Given the description of an element on the screen output the (x, y) to click on. 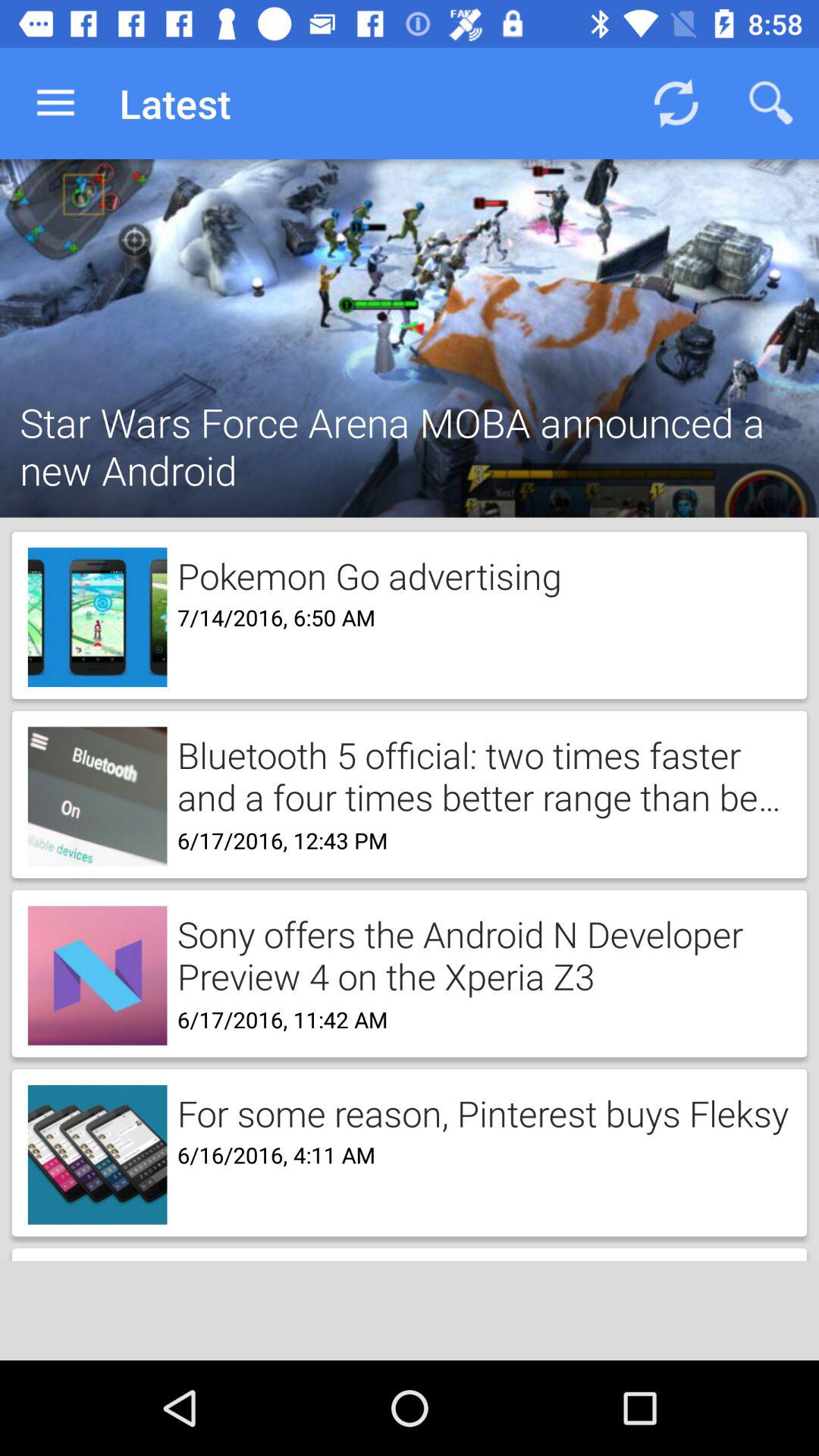
jump until the sony offers the icon (479, 954)
